Given the description of an element on the screen output the (x, y) to click on. 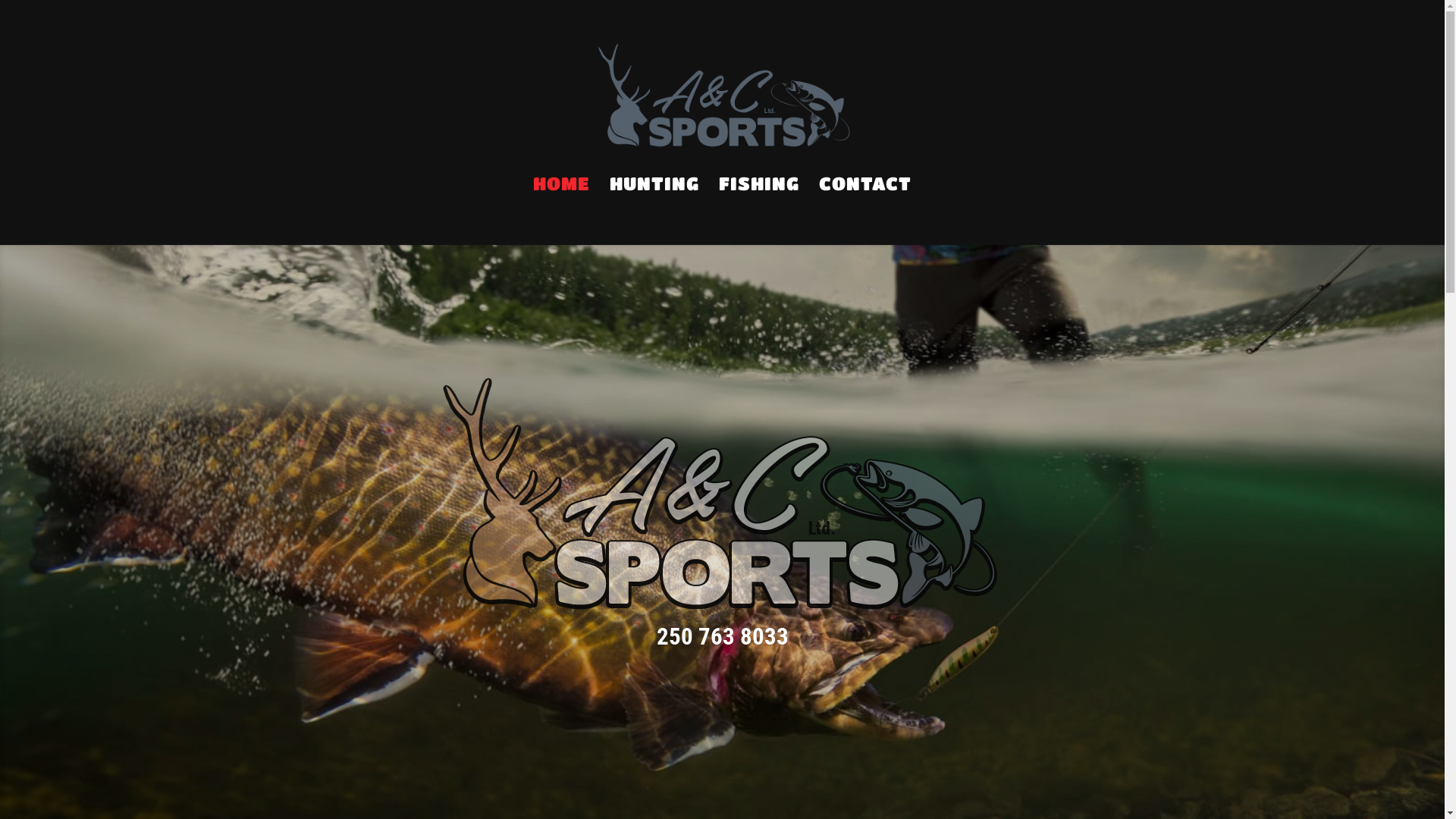
250 763 8033 Element type: text (722, 636)
HOME Element type: text (561, 194)
FISHING Element type: text (758, 194)
HUNTING Element type: text (654, 194)
CONTACT Element type: text (865, 194)
